Given the description of an element on the screen output the (x, y) to click on. 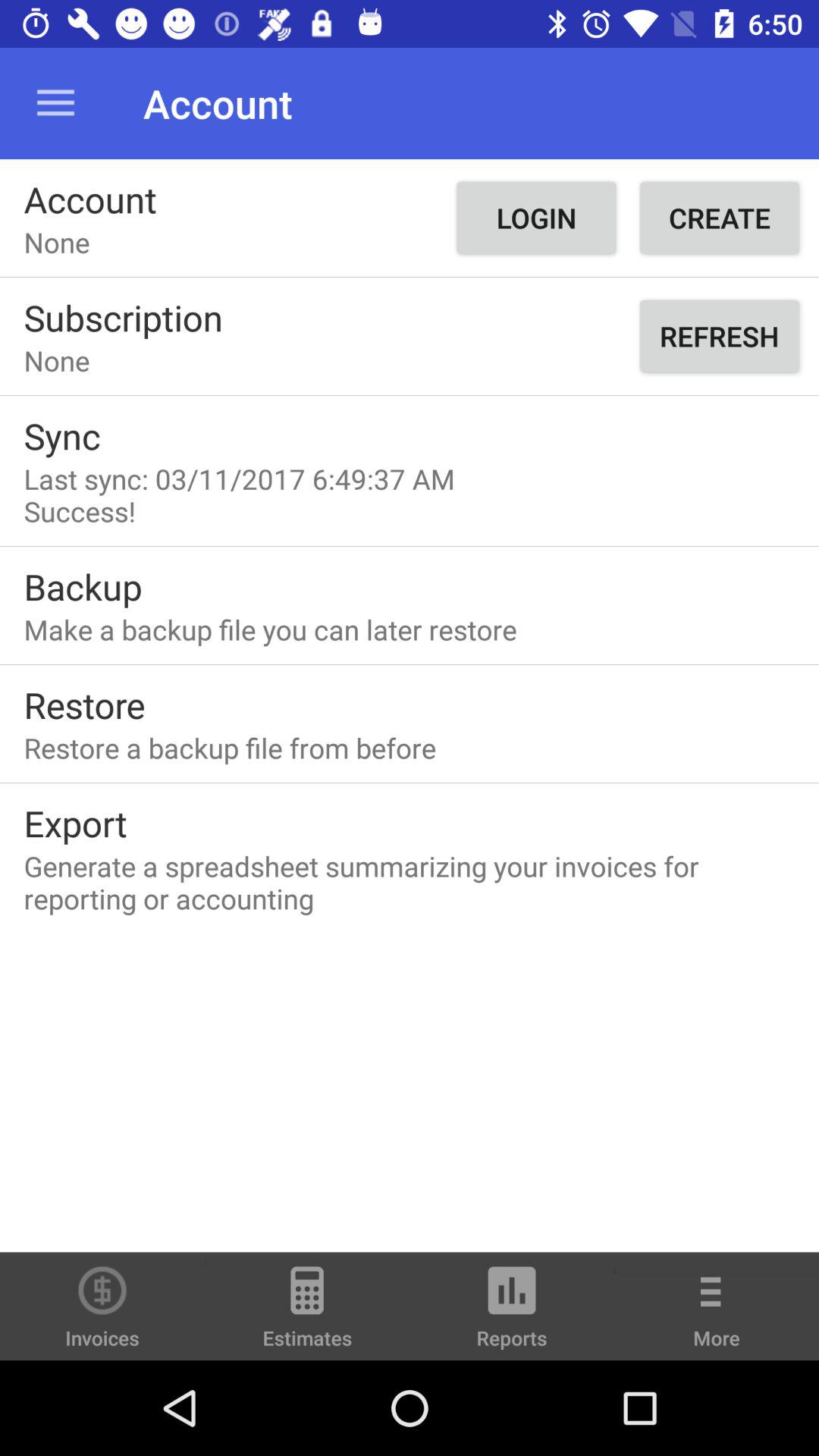
press the reports icon (511, 1313)
